Given the description of an element on the screen output the (x, y) to click on. 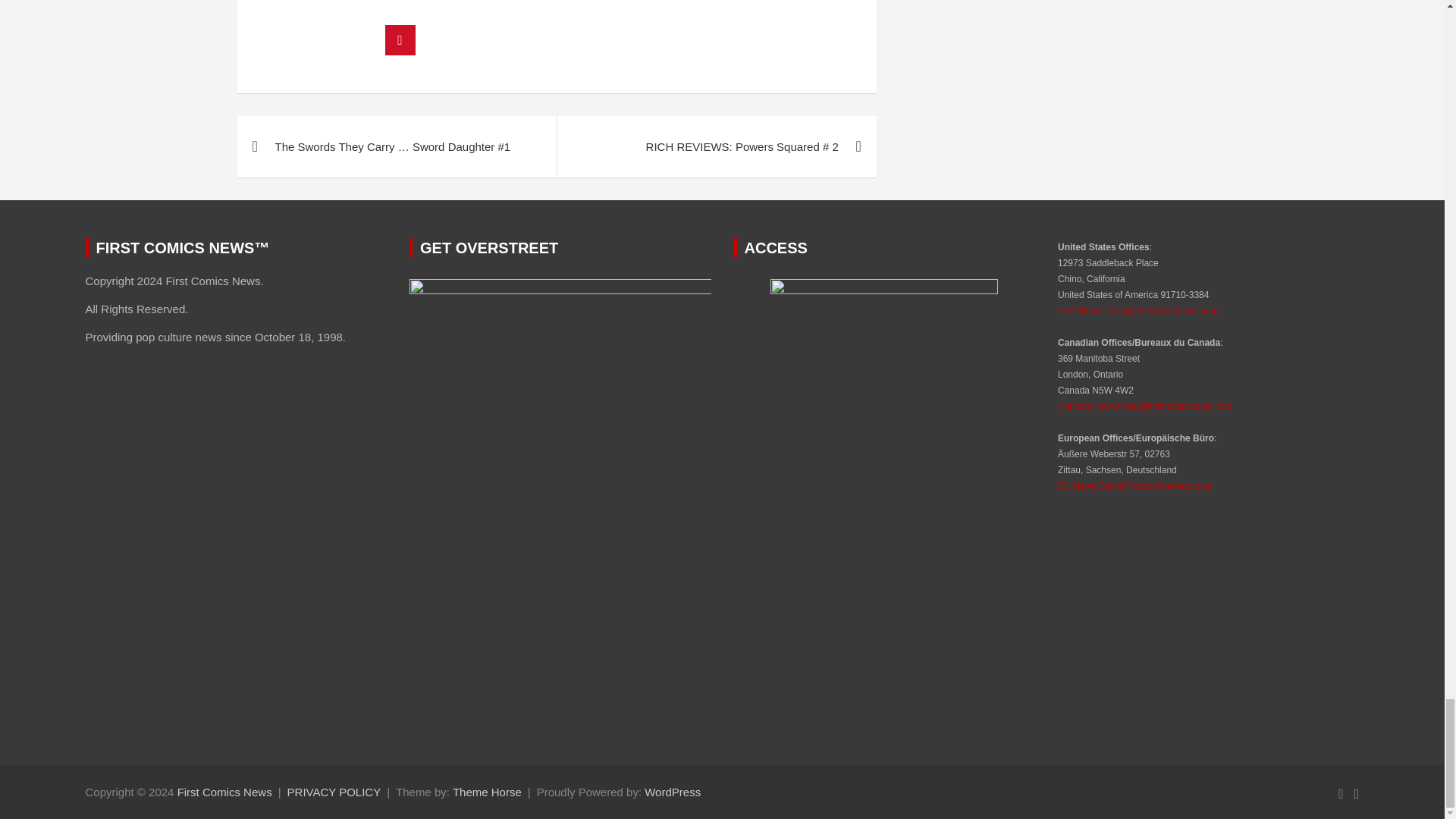
Theme Horse (486, 791)
First Comics News (224, 791)
WordPress (672, 791)
